Given the description of an element on the screen output the (x, y) to click on. 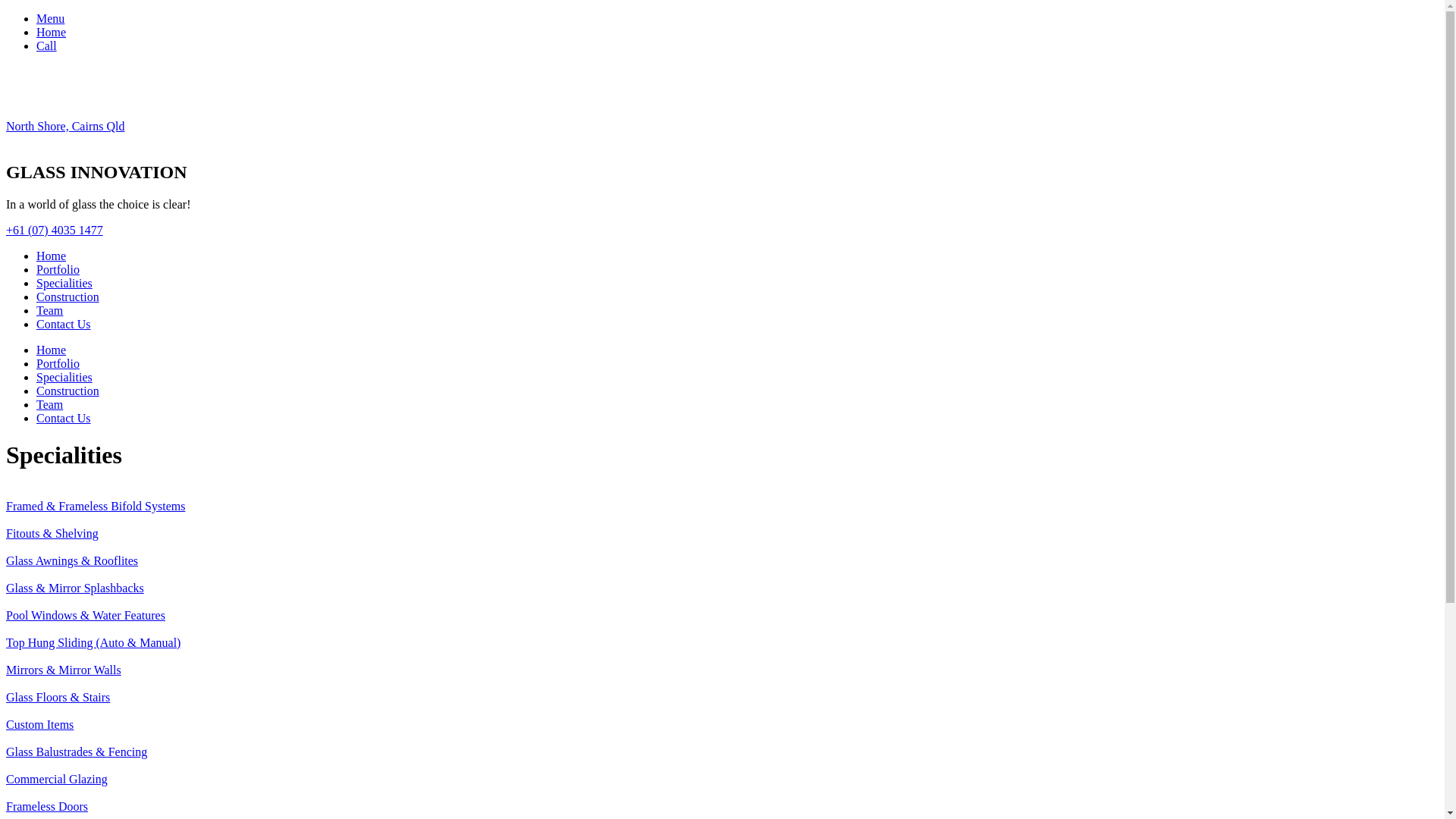
Custom Items Element type: text (39, 724)
Commercial Glazing Element type: text (56, 778)
Specialities Element type: text (64, 376)
Home Element type: text (50, 349)
Glass Awnings & Rooflites Element type: text (72, 560)
Contact Us Element type: text (63, 417)
Fitouts & Shelving Element type: text (52, 533)
Jump to navigation Element type: text (52, 12)
Contact Us Element type: text (63, 323)
Pool Windows & Water Features Element type: text (85, 614)
Glass Balustrades & Fencing Element type: text (76, 751)
Construction Element type: text (67, 296)
Home Element type: text (50, 255)
Mirrors & Mirror Walls Element type: text (63, 669)
Glass & Mirror Splashbacks Element type: text (75, 587)
Menu Element type: text (50, 18)
Construction Element type: text (67, 390)
Team Element type: text (49, 310)
Portfolio Element type: text (57, 269)
Glass Floors & Stairs Element type: text (57, 696)
Team Element type: text (49, 404)
Framed & Frameless Bifold Systems Element type: text (95, 505)
North Shore, Cairns Qld Element type: text (65, 125)
+61 (07) 4035 1477 Element type: text (54, 229)
Top Hung Sliding (Auto & Manual) Element type: text (93, 642)
Home Element type: text (50, 31)
Frameless Doors Element type: text (46, 806)
Call Element type: text (46, 45)
Specialities Element type: text (64, 282)
Portfolio Element type: text (57, 363)
